Given the description of an element on the screen output the (x, y) to click on. 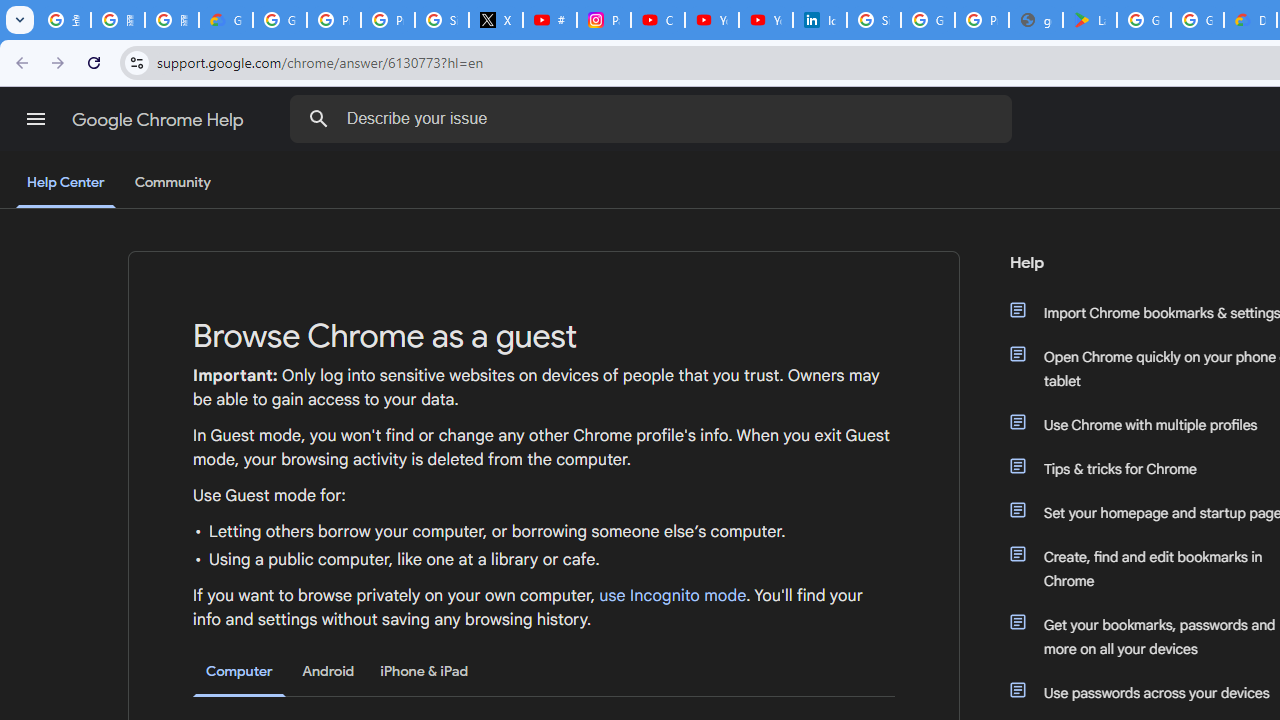
Android (328, 671)
Describe your issue (653, 118)
use Incognito mode (673, 596)
Privacy Help Center - Policies Help (387, 20)
Sign in - Google Accounts (874, 20)
#nbabasketballhighlights - YouTube (550, 20)
